Given the description of an element on the screen output the (x, y) to click on. 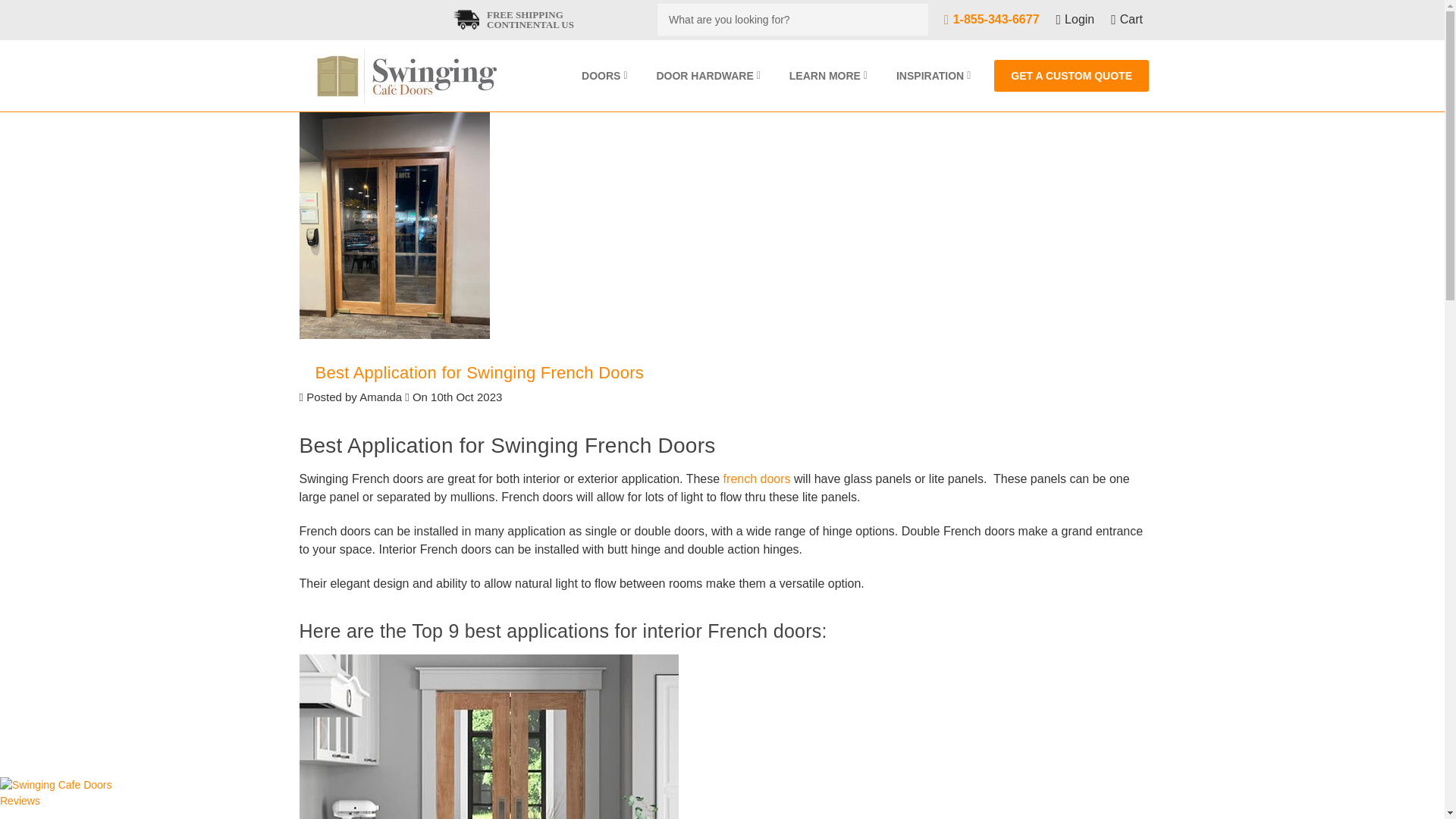
Modern Double Swinging French Doors  (488, 736)
Cart (1126, 19)
LEARN MORE (828, 75)
DOOR HARDWARE (708, 75)
DOORS (603, 75)
Swinging Cafe Doors (401, 75)
1-855-343-6677 (991, 19)
Search (908, 20)
Login (1075, 19)
